Given the description of an element on the screen output the (x, y) to click on. 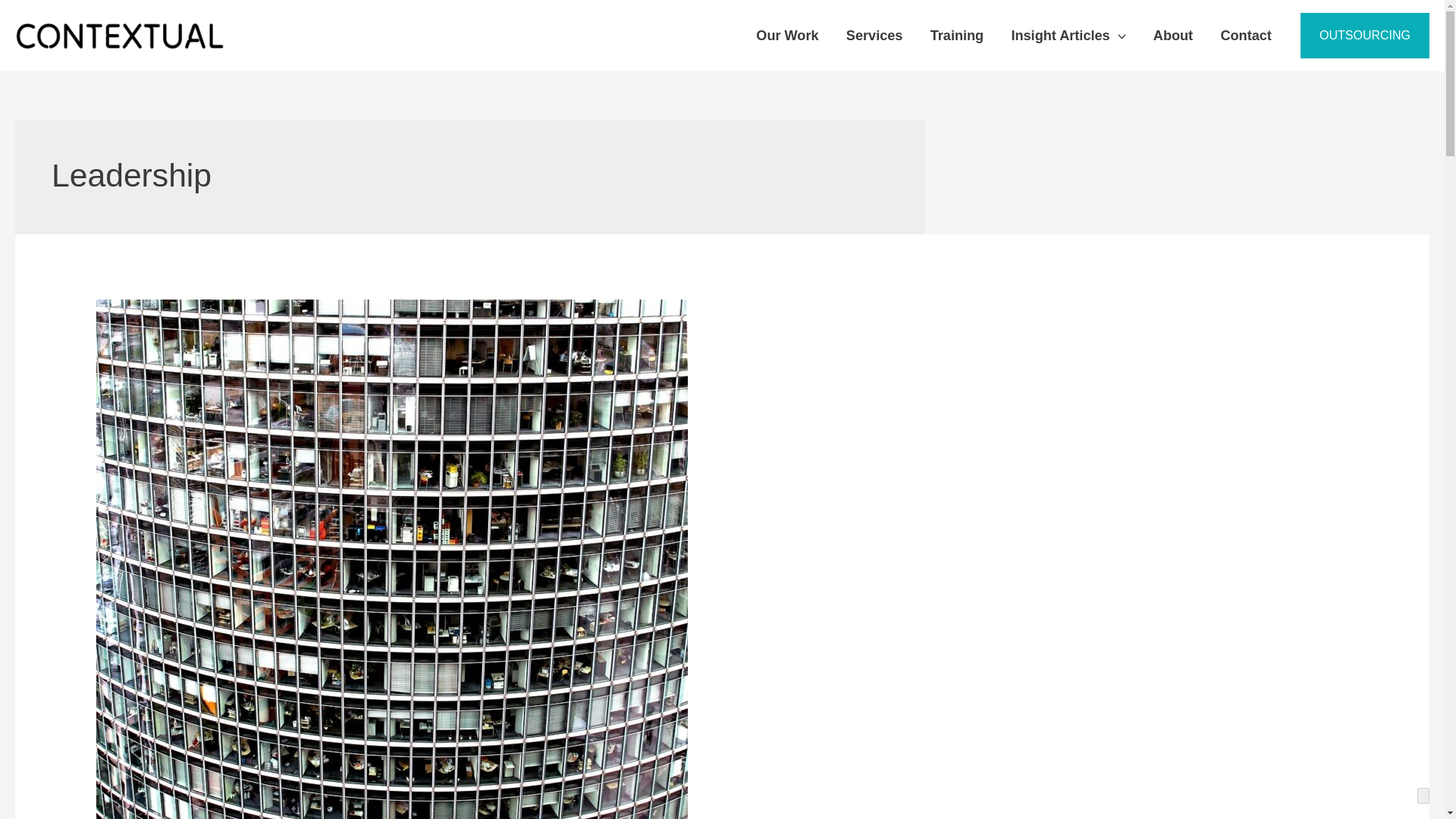
Our Work (787, 35)
Training (957, 35)
OUTSOURCING (1364, 35)
Insight Articles (1067, 35)
Contact (1246, 35)
About (1173, 35)
Services (874, 35)
